Given the description of an element on the screen output the (x, y) to click on. 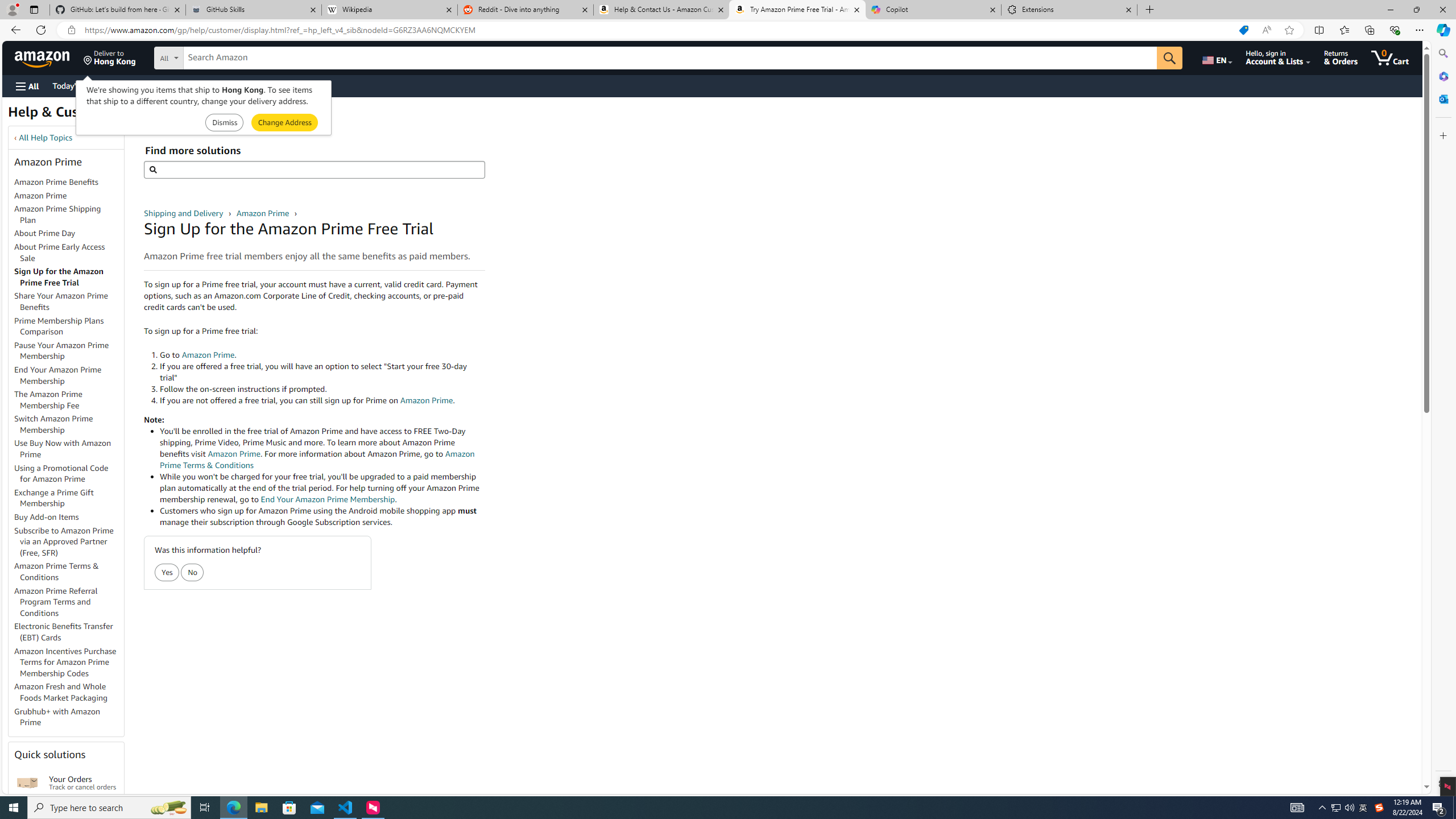
Deliver to Hong Kong (109, 57)
Find more solutions (314, 169)
Electronic Benefits Transfer (EBT) Cards (63, 631)
Share Your Amazon Prime Benefits (68, 301)
Sign Up for the Amazon Prime Free Trial (68, 277)
Microsoft 365 (1442, 76)
Add this page to favorites (Ctrl+D) (1289, 29)
Browser essentials (1394, 29)
Shipping and Delivery  (184, 213)
About Prime Day (44, 233)
Wikipedia (390, 9)
The Amazon Prime Membership Fee (68, 400)
Yes (167, 572)
Switch Amazon Prime Membership (53, 423)
Collections (1369, 29)
